Given the description of an element on the screen output the (x, y) to click on. 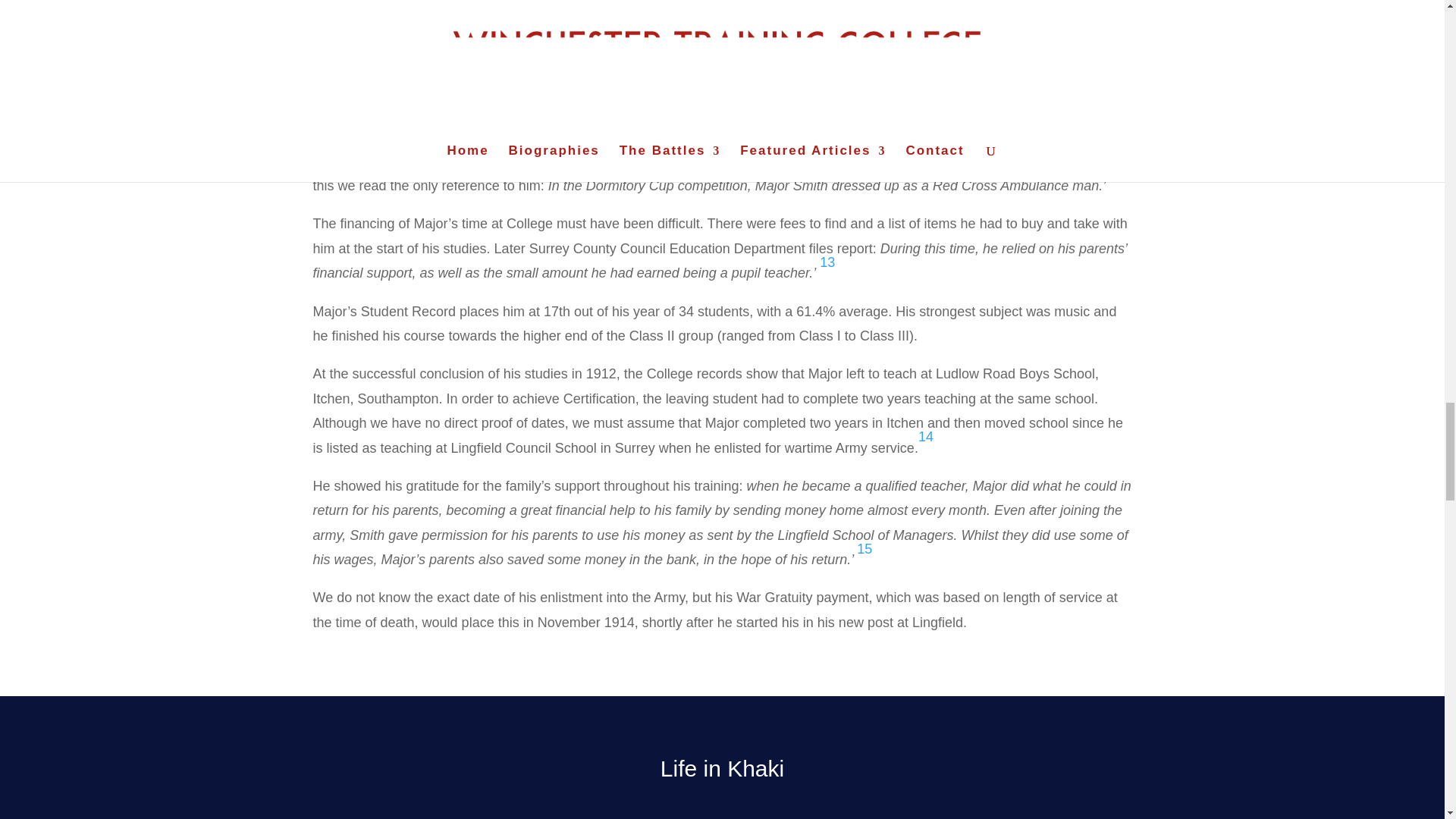
15 (864, 548)
14 (925, 436)
13 (826, 262)
